Given the description of an element on the screen output the (x, y) to click on. 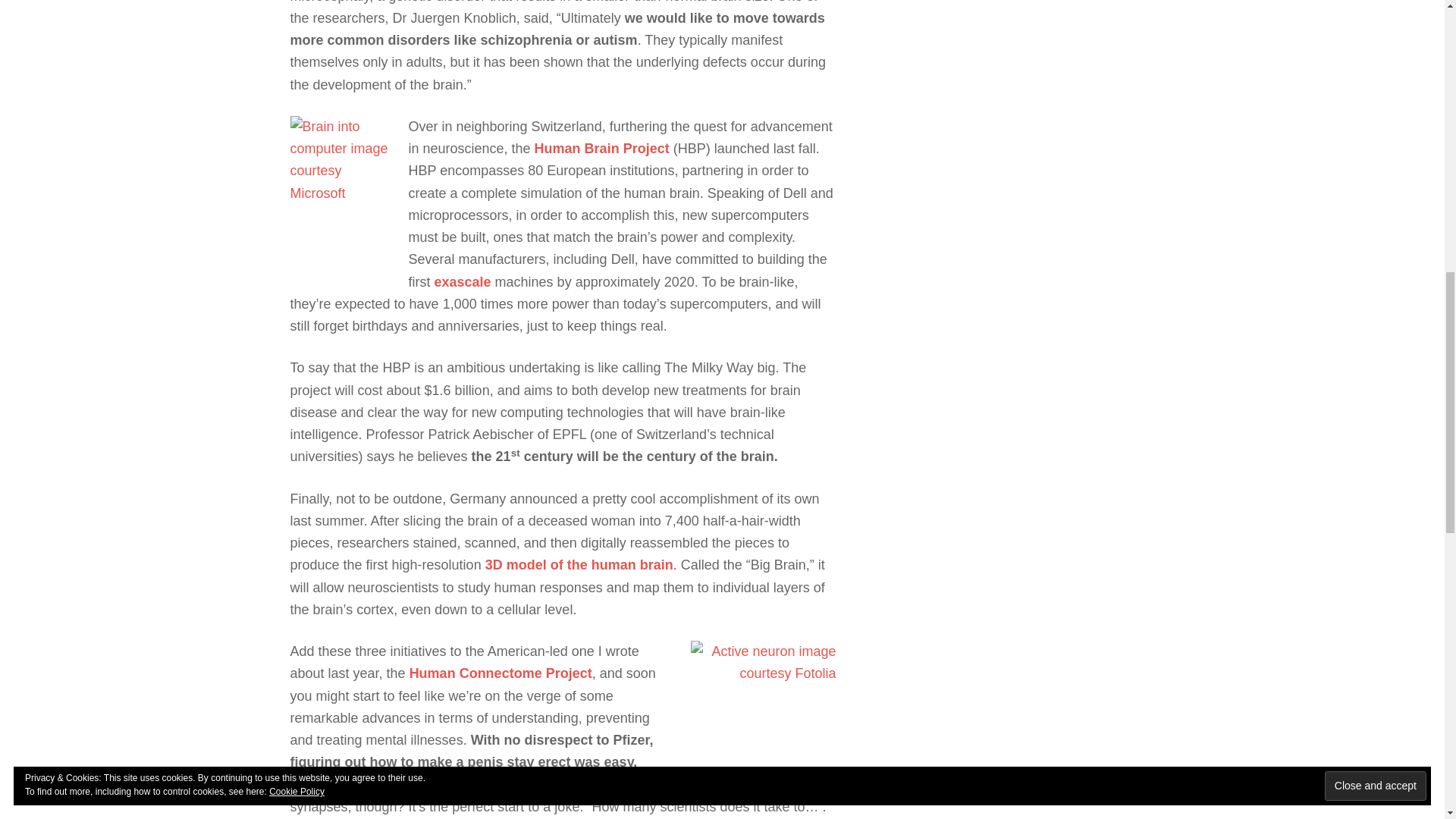
exascale (461, 281)
Human Brain Project (601, 148)
Blog post on Human Connectome Project  (500, 672)
Wiki definition of exascale computing (461, 281)
3D model of the human brain (578, 564)
BBC coverage of 3D brain model (578, 564)
Human Connectome Project (500, 672)
Human Brain Project website (601, 148)
